Given the description of an element on the screen output the (x, y) to click on. 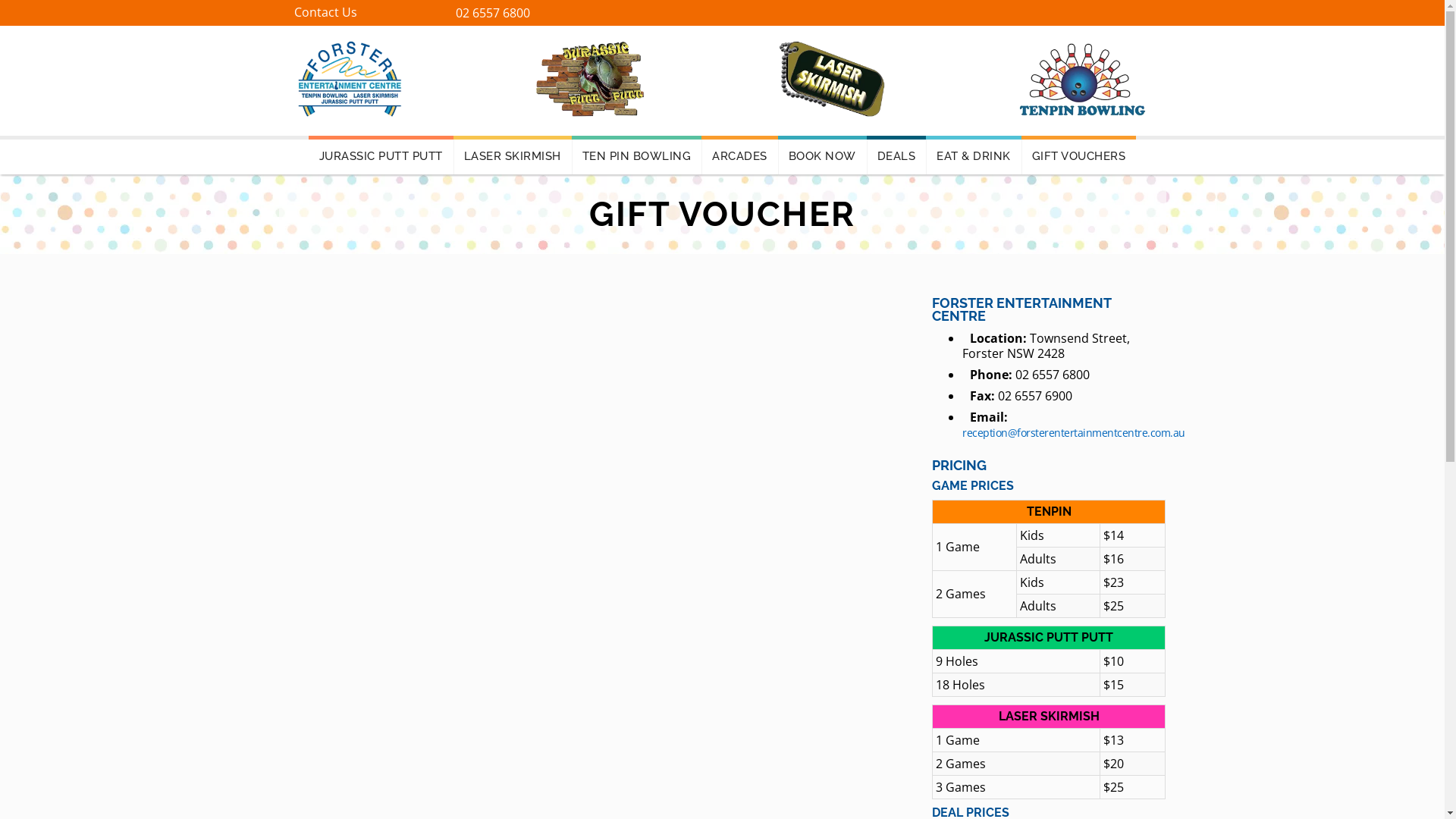
BOOK NOW Element type: text (822, 154)
reception@forsterentertainmentcentre.com.au Element type: text (1073, 432)
GIFT VOUCHERS Element type: text (1078, 154)
02 6557 6800 Element type: text (492, 12)
JURASSIC PUTT PUTT Element type: text (380, 154)
Forster Entertainment Centre Element type: hover (349, 78)
DEALS Element type: text (896, 154)
LASER SKIRMISH Element type: text (512, 154)
Forster Entertainment Centre Element type: hover (1082, 78)
Forster Entertainment Centre Element type: hover (590, 78)
TEN PIN BOWLING Element type: text (636, 154)
EAT & DRINK Element type: text (973, 154)
Forster Entertainment Centre Element type: hover (831, 78)
ARCADES Element type: text (739, 154)
Contact Us Element type: text (325, 11)
